Given the description of an element on the screen output the (x, y) to click on. 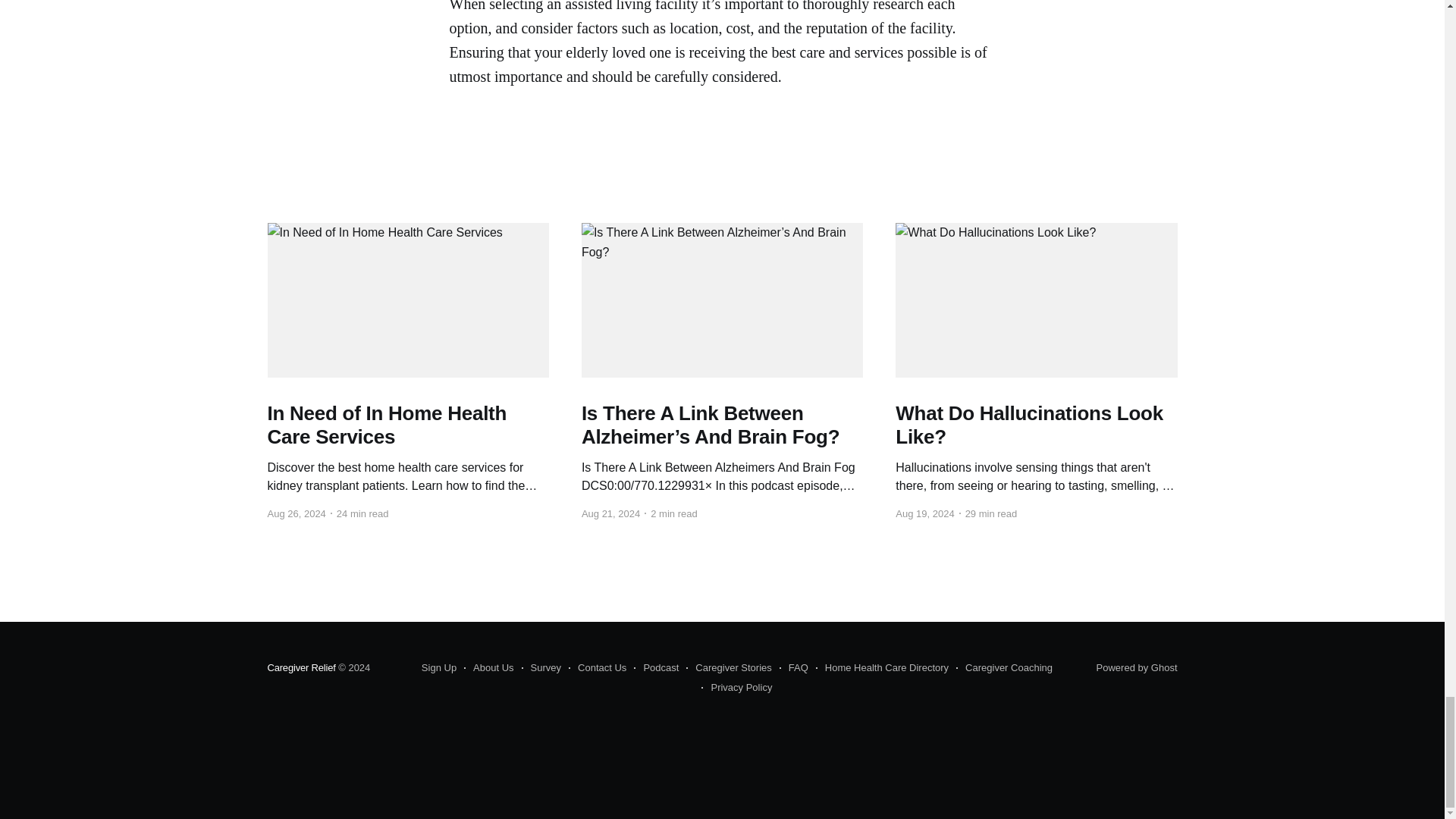
Sign Up (439, 668)
Caregiver Relief (300, 667)
Privacy Policy (736, 687)
Survey (540, 668)
Caregiver Coaching (1004, 668)
Caregiver Stories (728, 668)
Contact Us (597, 668)
FAQ (793, 668)
